Given the description of an element on the screen output the (x, y) to click on. 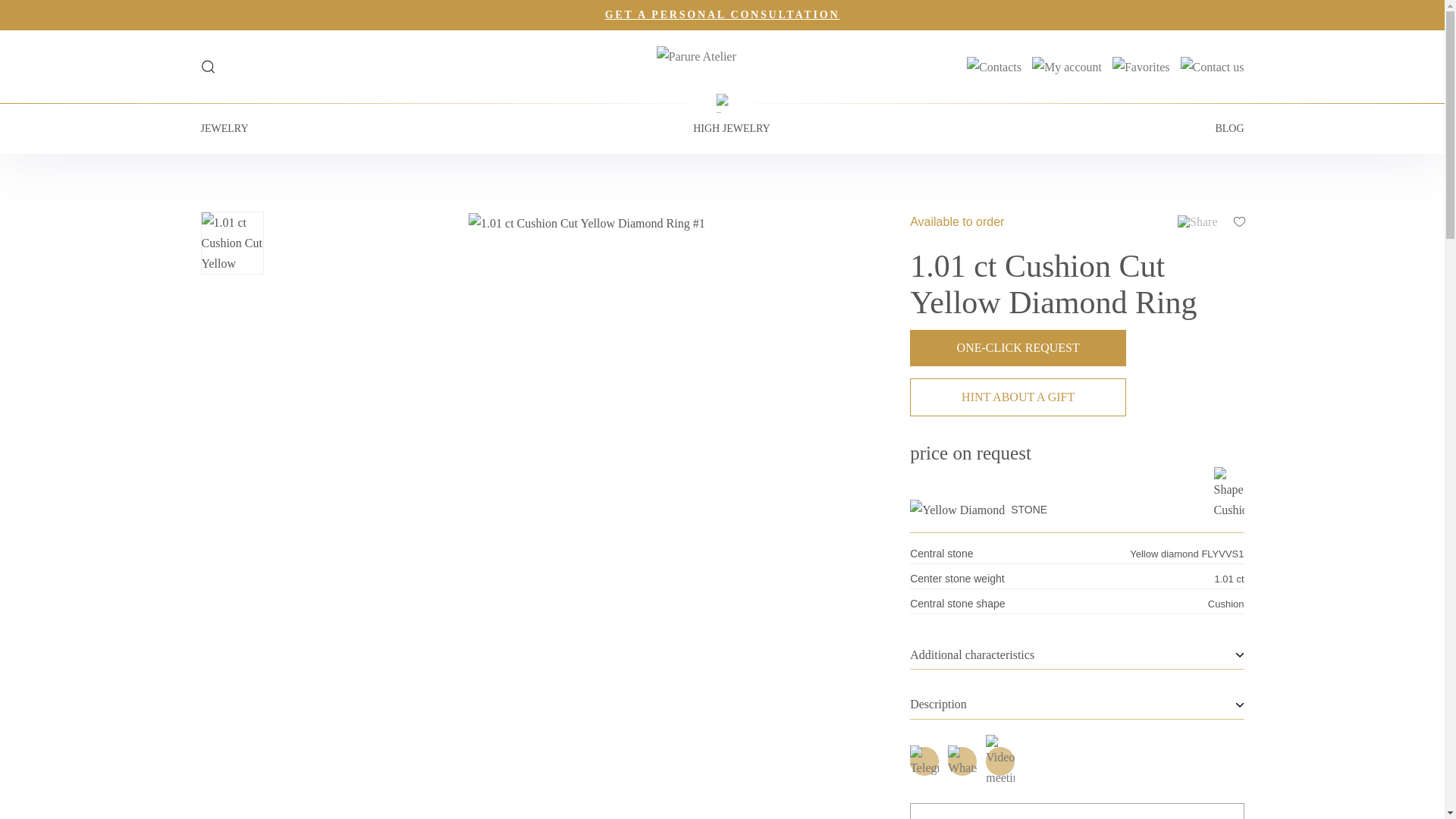
BLOG (1228, 128)
JEWELRY (223, 128)
HIGH JEWELRY (731, 128)
